Given the description of an element on the screen output the (x, y) to click on. 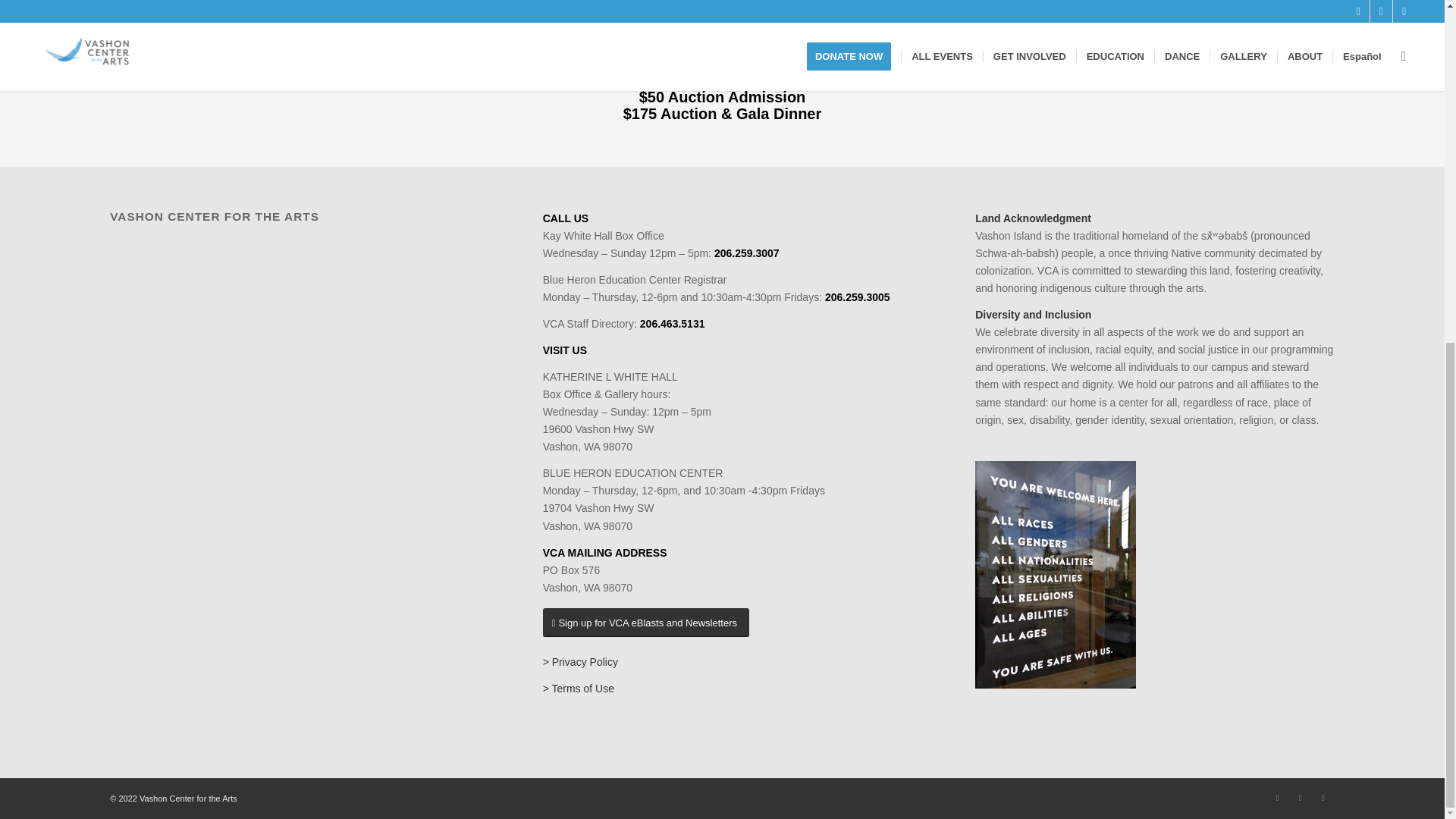
Youtube (1323, 797)
Facebook (1299, 797)
Instagram (1277, 797)
